Given the description of an element on the screen output the (x, y) to click on. 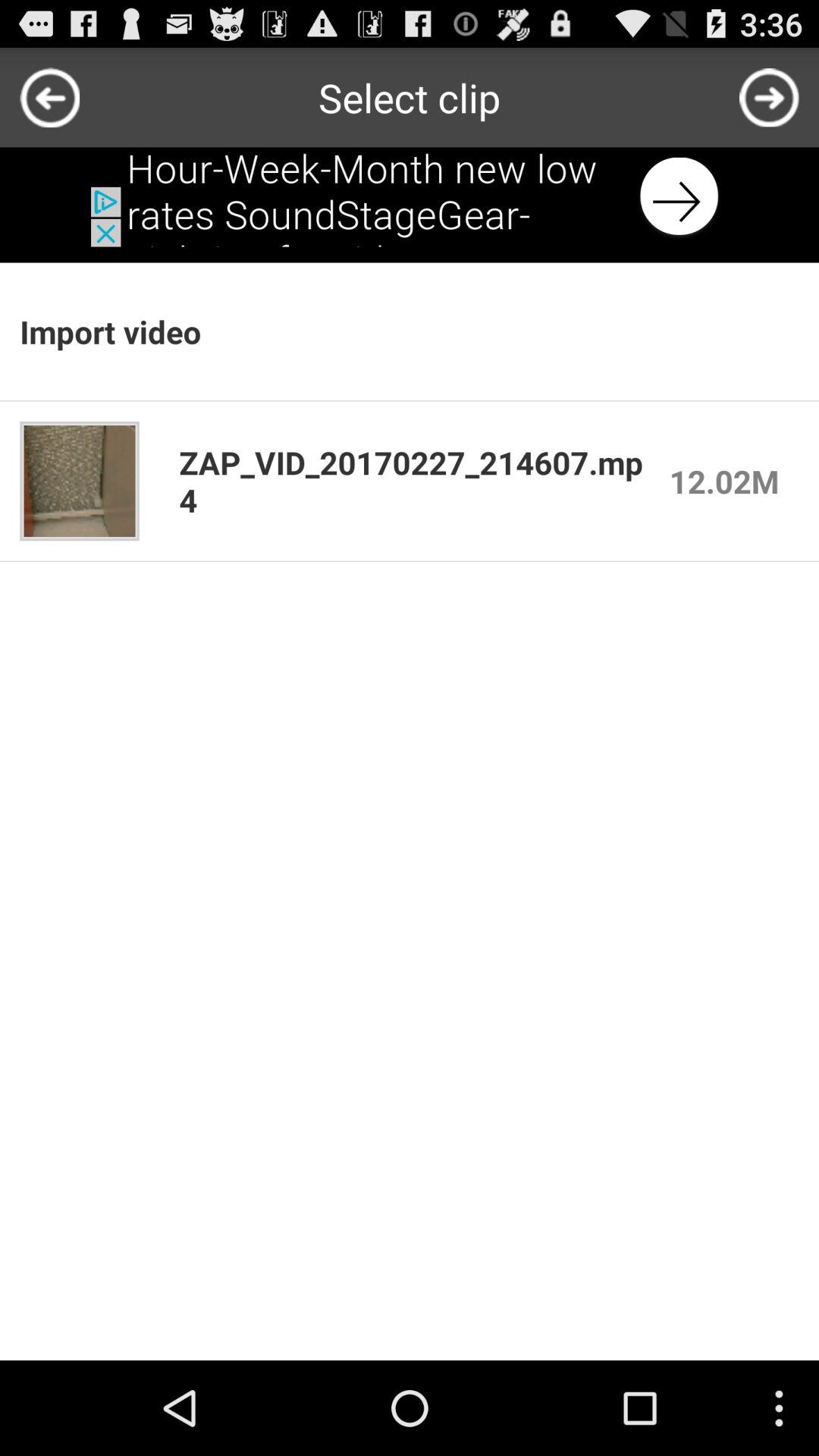
next option (769, 97)
